Given the description of an element on the screen output the (x, y) to click on. 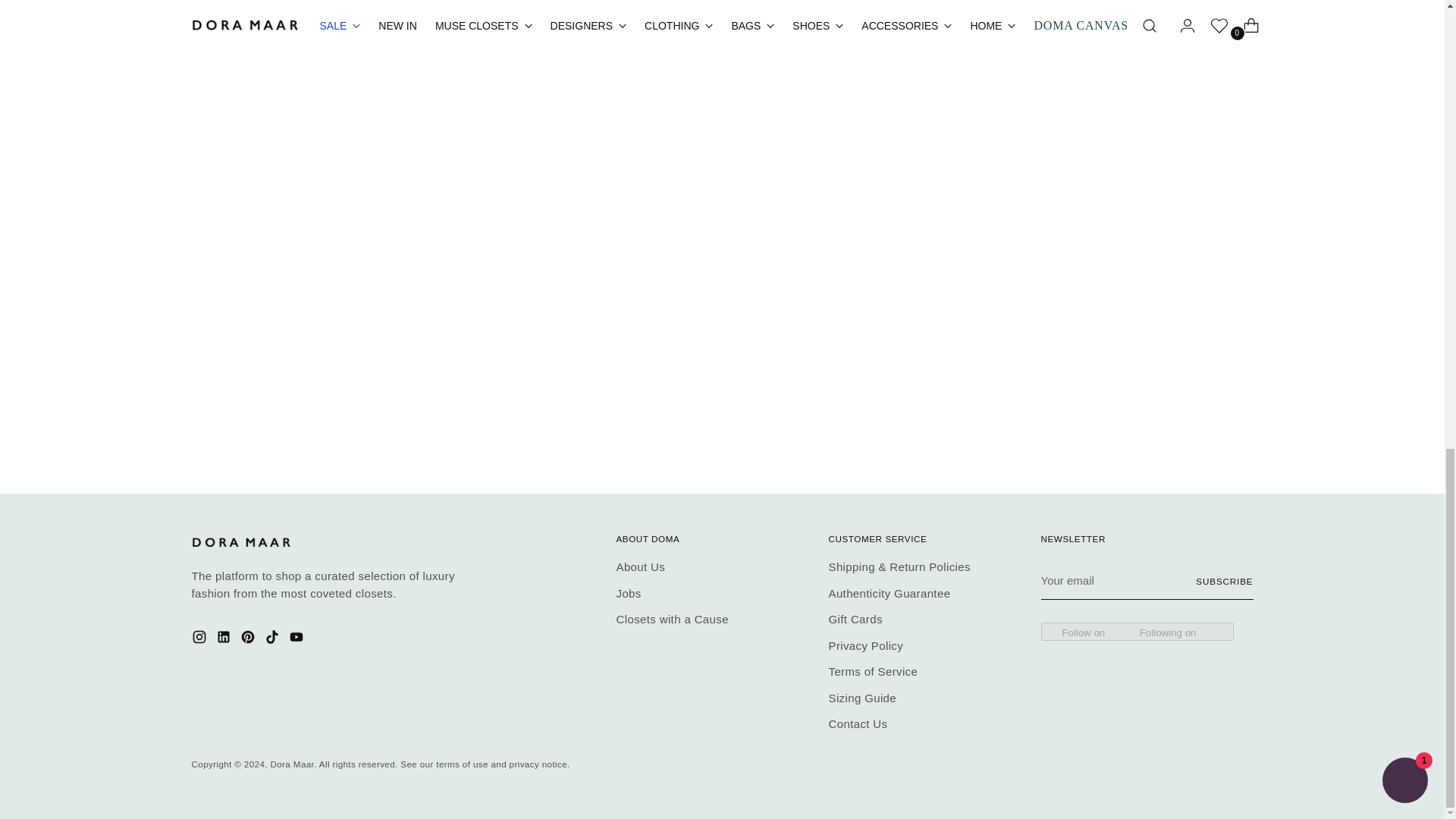
Dora Maar on LinkedIn (223, 639)
Dora Maar on Tiktok (272, 639)
